Given the description of an element on the screen output the (x, y) to click on. 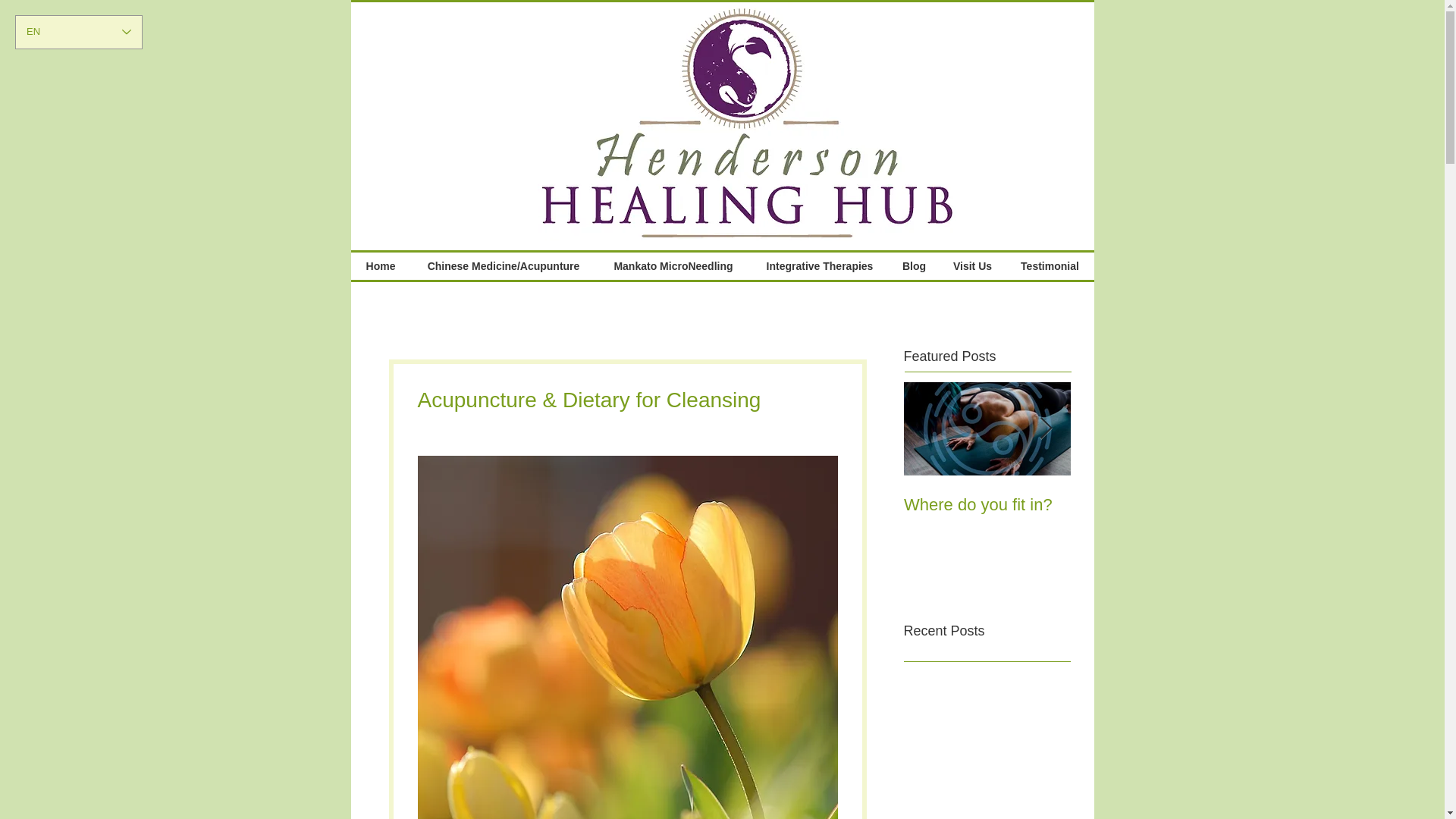
4 Ways to Massage Away Back Pain (1153, 514)
Visit Us (972, 266)
Mankato MicroNeedling (672, 266)
Integrative Therapies (820, 266)
Home (380, 266)
Blog (913, 266)
Where do you fit in? (987, 505)
Testimonial (1049, 266)
